Given the description of an element on the screen output the (x, y) to click on. 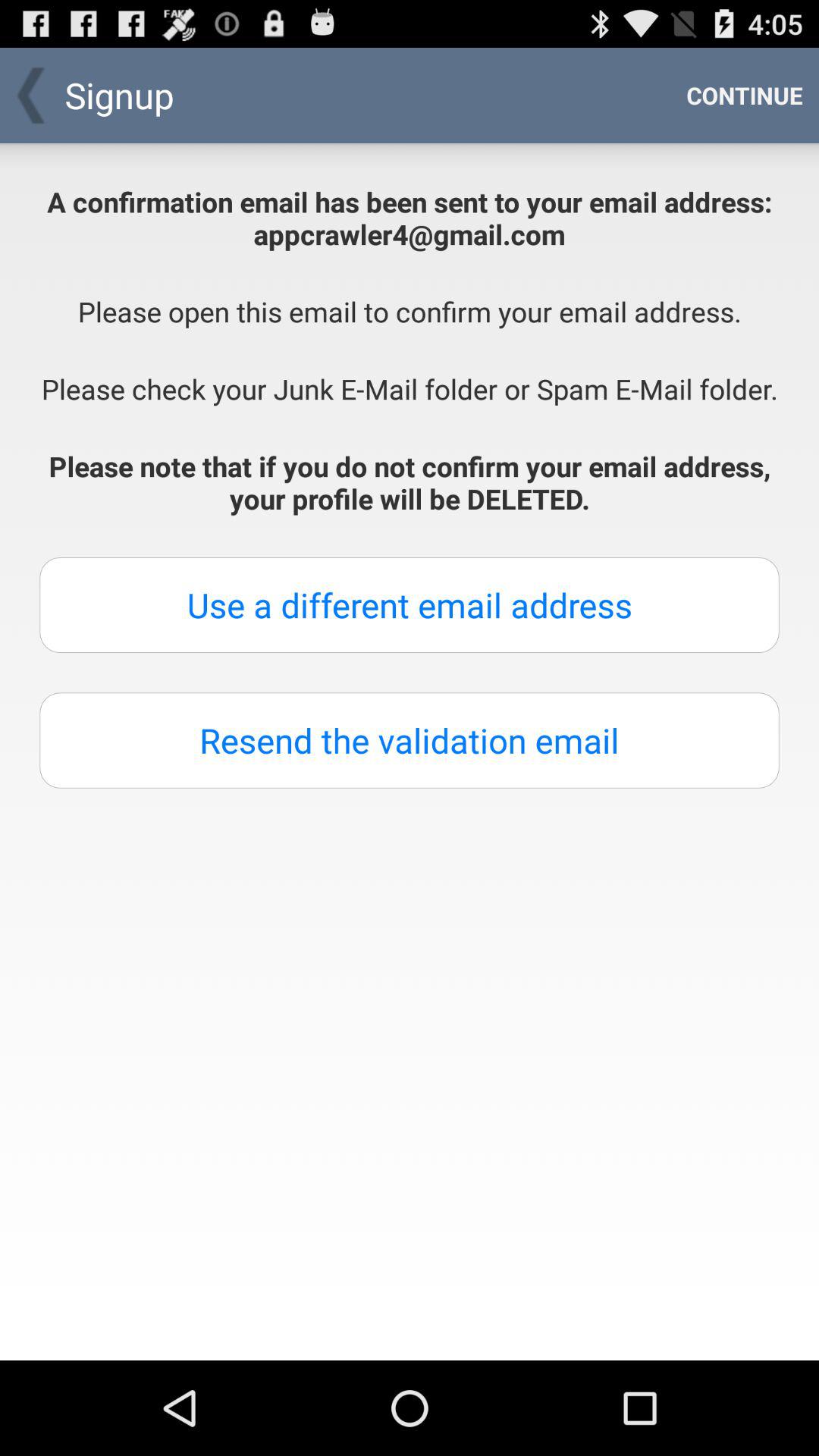
tap the item below please note that icon (409, 604)
